Given the description of an element on the screen output the (x, y) to click on. 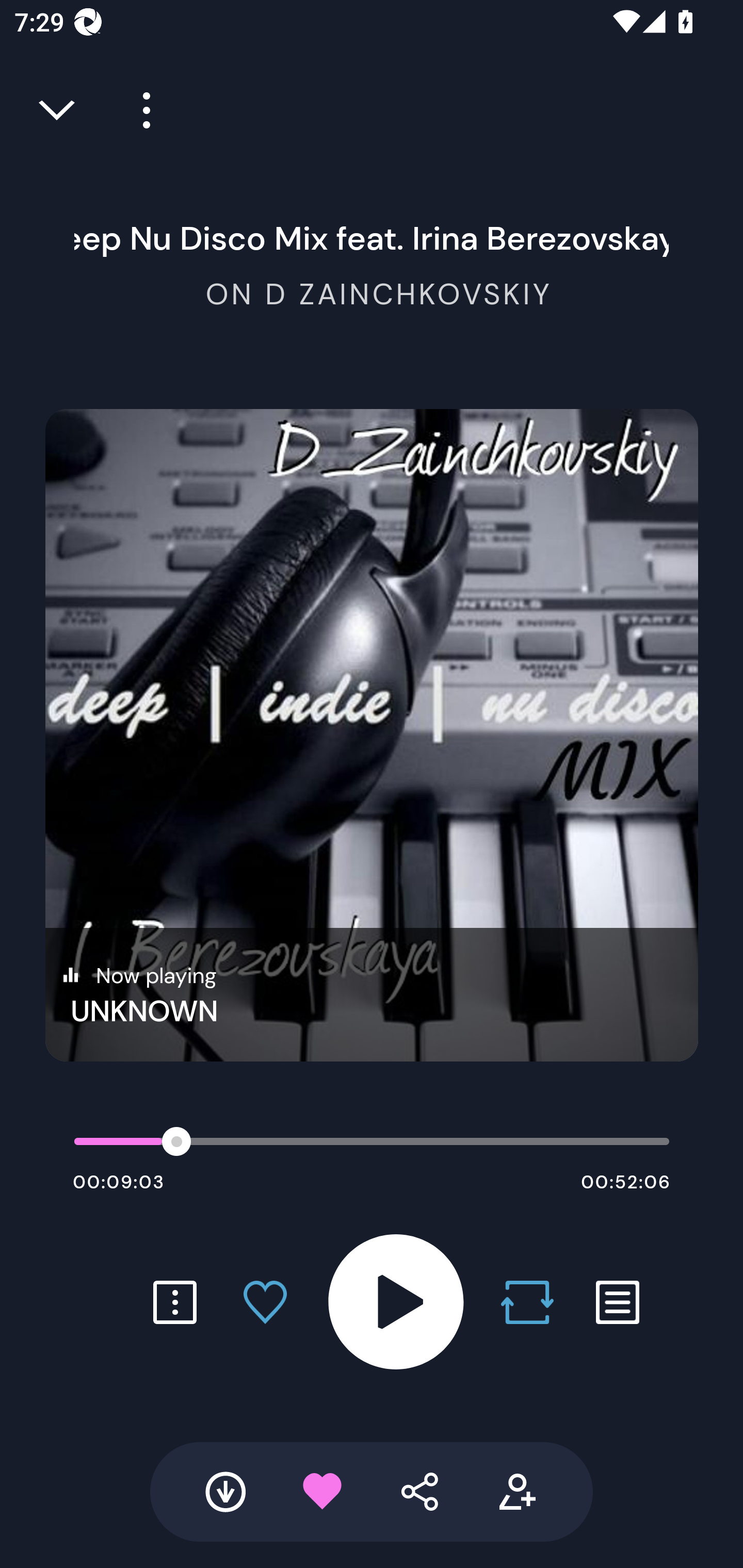
Close full player (58, 110)
Player more options button (139, 110)
Repost button (527, 1301)
